Given the description of an element on the screen output the (x, y) to click on. 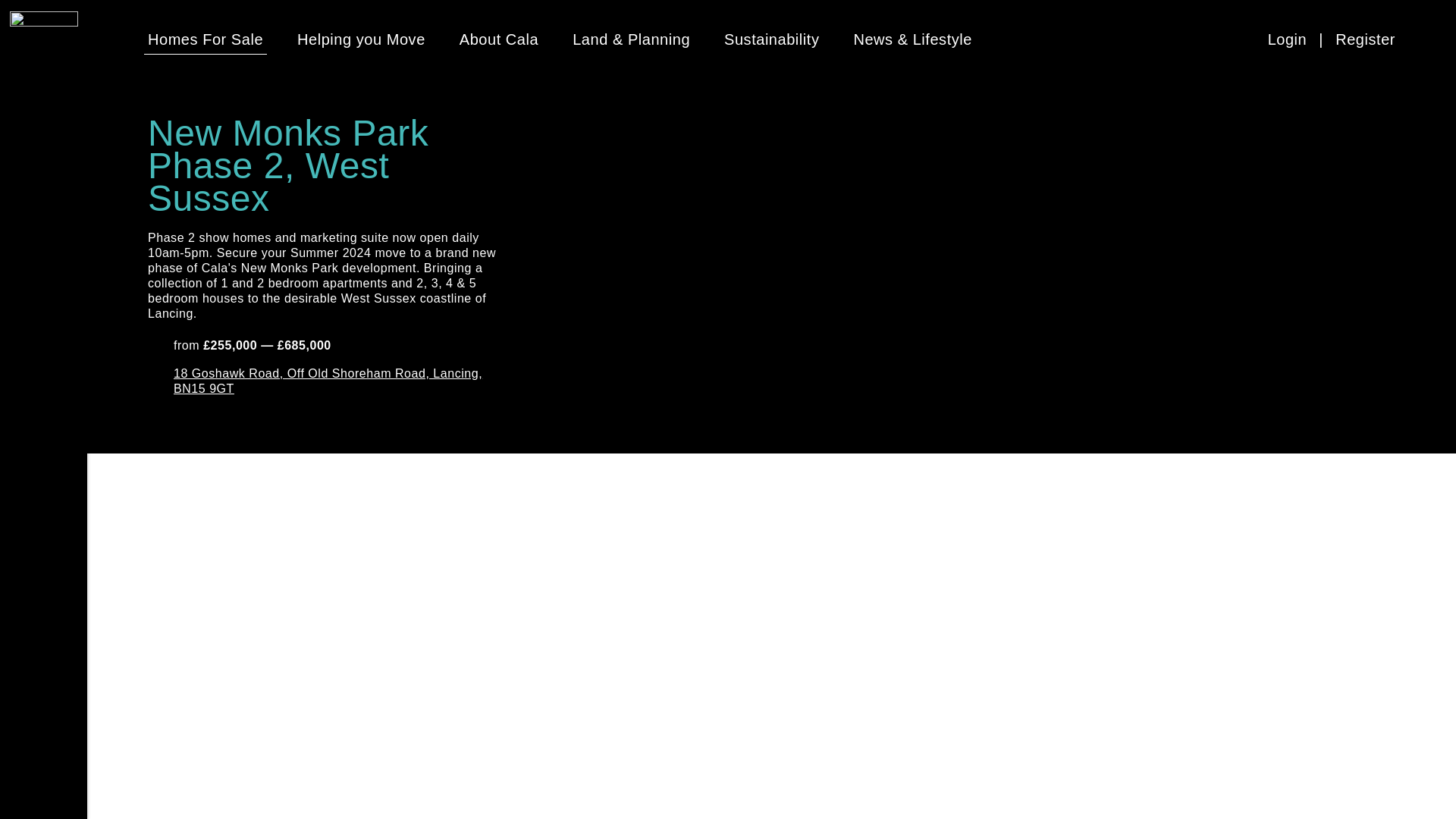
Homes For Sale (205, 39)
18 Goshawk Road, Off Old Shoreham Road, Lancing, BN15 9GT (342, 381)
About Cala (499, 39)
Sustainability (771, 39)
Helping you Move (360, 39)
